Given the description of an element on the screen output the (x, y) to click on. 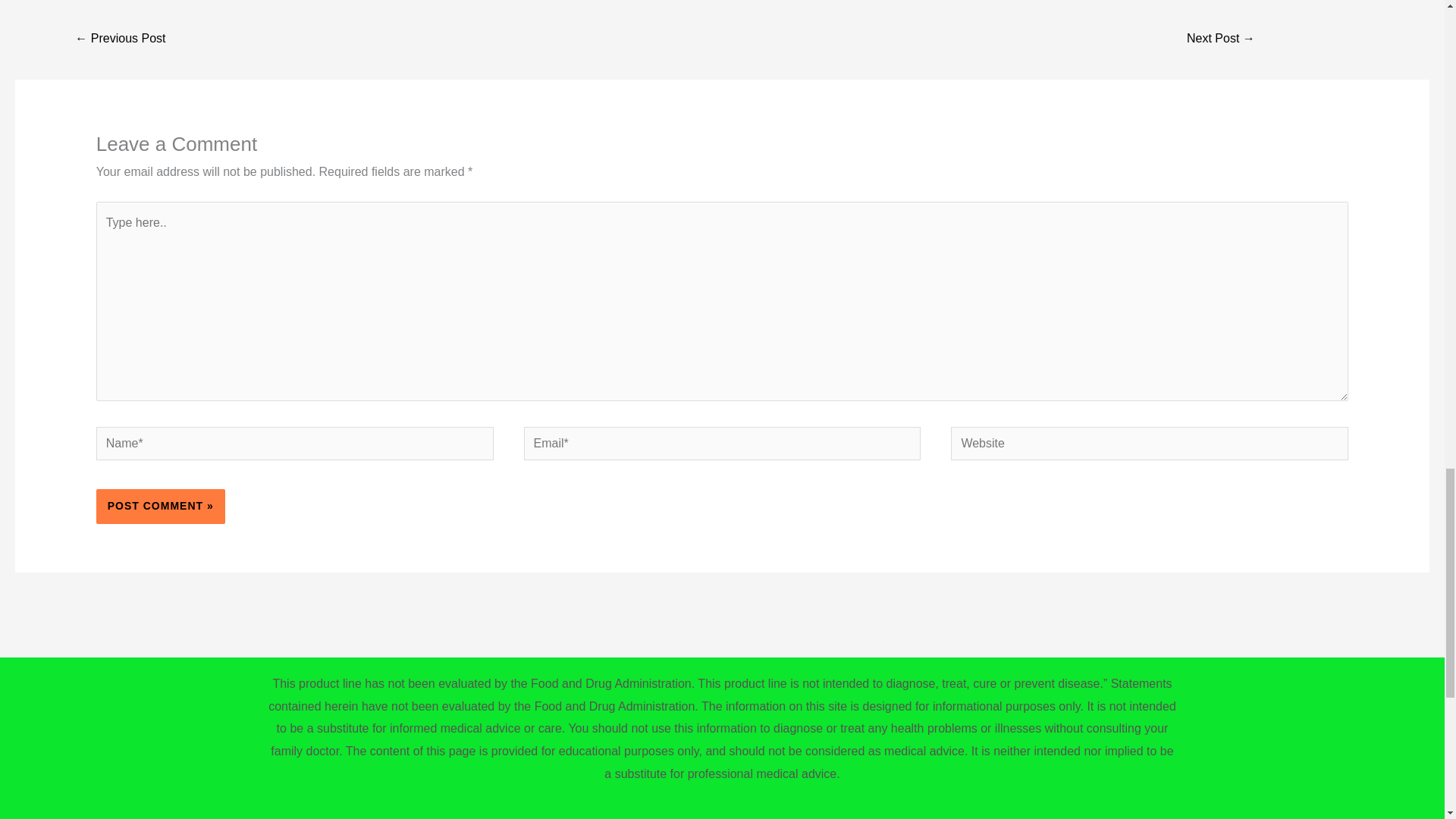
Kickstart Event in One of the World's Coolest Office (376, 146)
Hong Kong Tea Expo 2014 (1079, 146)
